Given the description of an element on the screen output the (x, y) to click on. 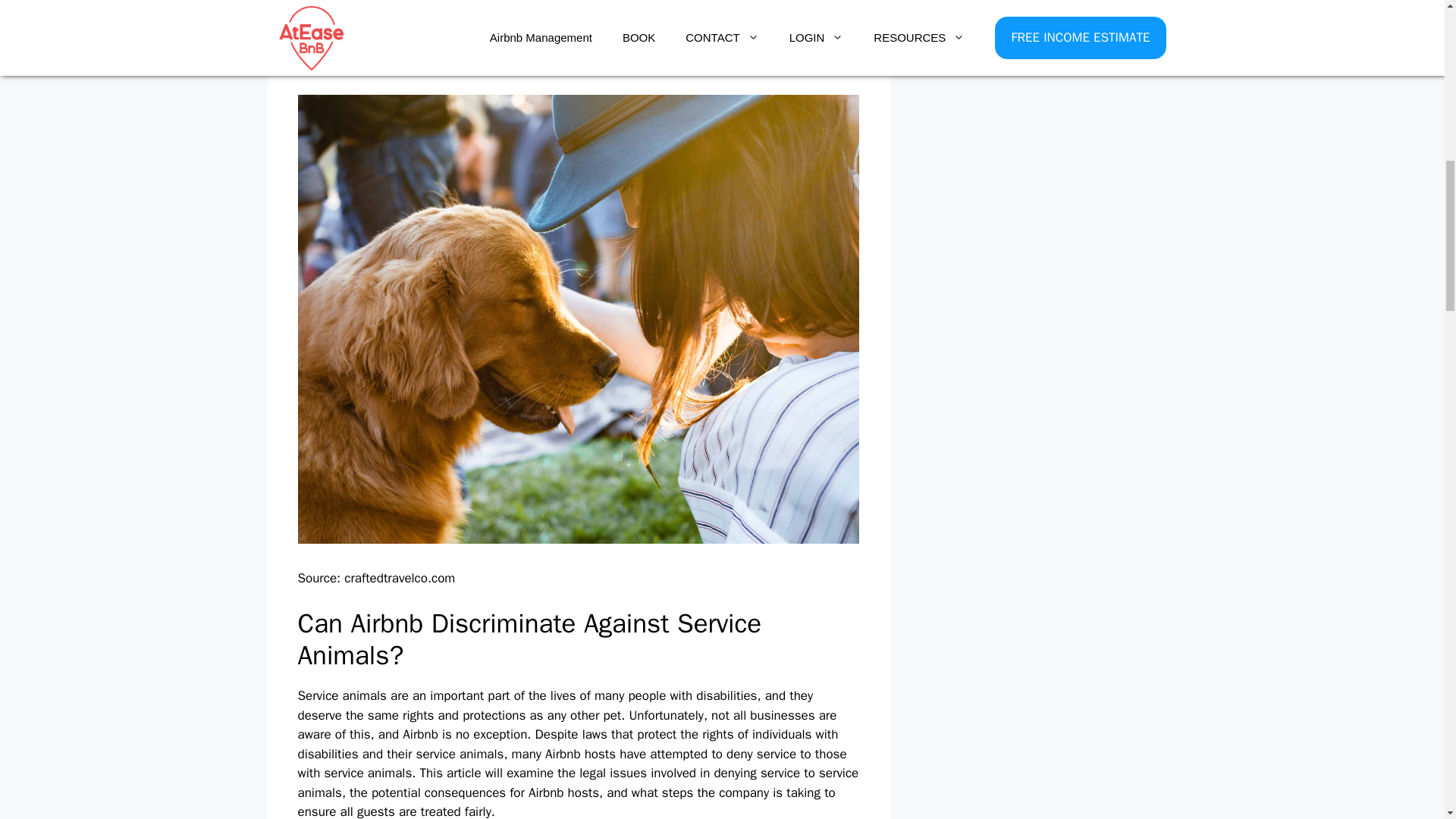
Scroll back to top (1406, 720)
